Given the description of an element on the screen output the (x, y) to click on. 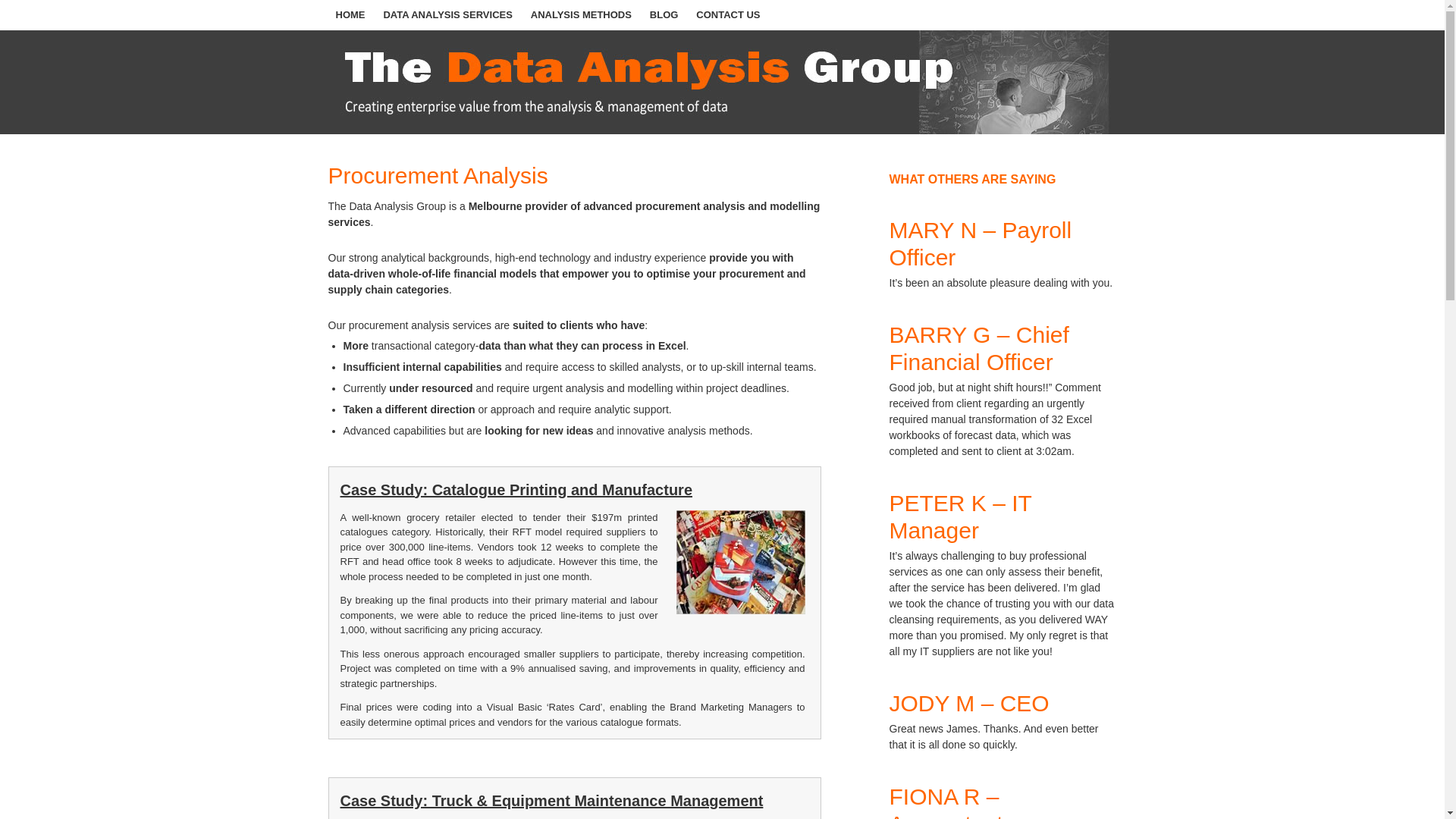
CONTACT US Element type: text (727, 15)
The Data Analysis Group -  Element type: hover (721, 82)
ANALYSIS METHODS Element type: text (581, 15)
DATA ANALYSIS SERVICES Element type: text (447, 15)
BLOG Element type: text (664, 15)
HOME Element type: text (349, 15)
